Given the description of an element on the screen output the (x, y) to click on. 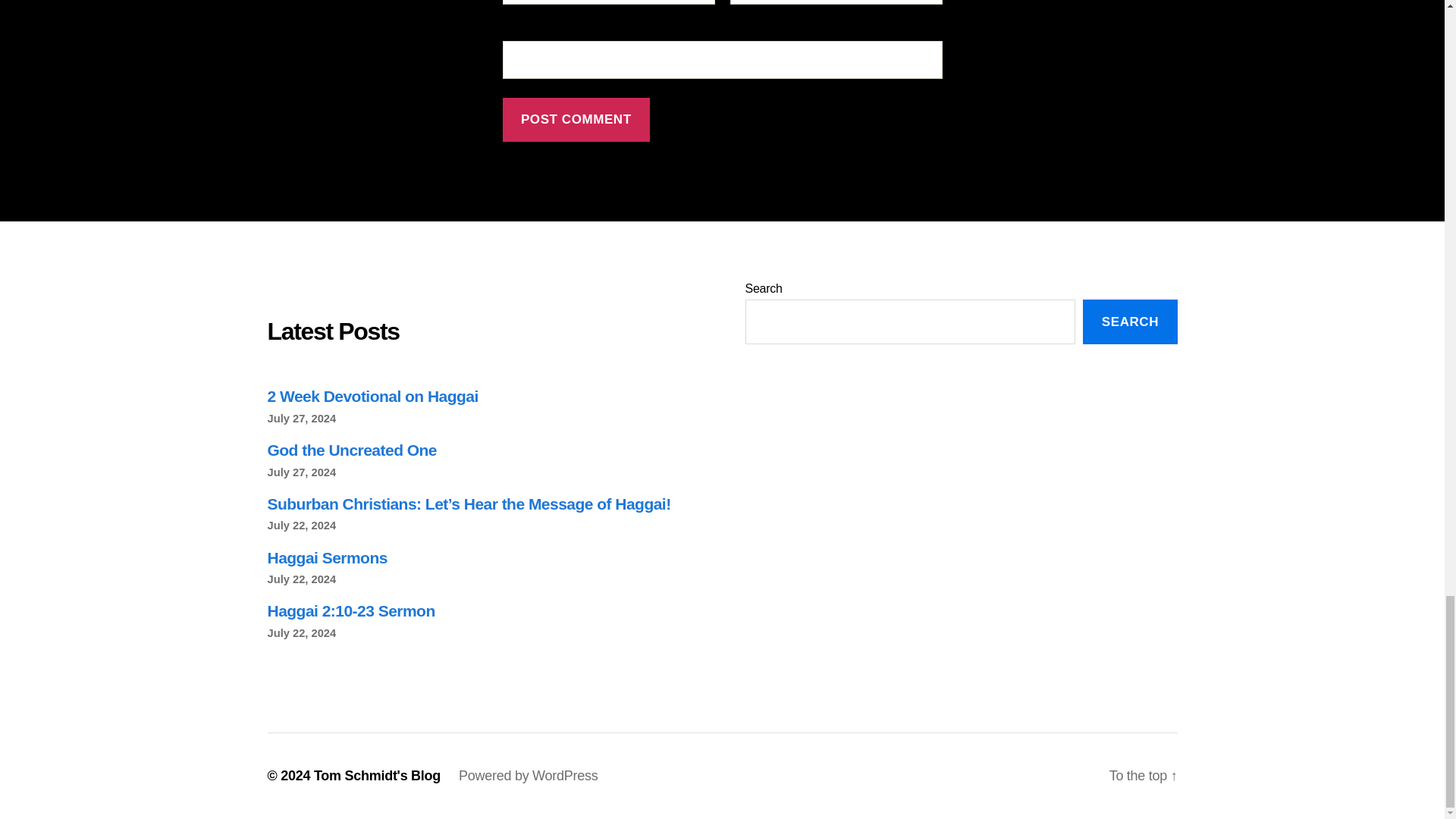
God the Uncreated One (351, 449)
Post Comment (575, 119)
2 Week Devotional on Haggai (371, 395)
Post Comment (575, 119)
